Given the description of an element on the screen output the (x, y) to click on. 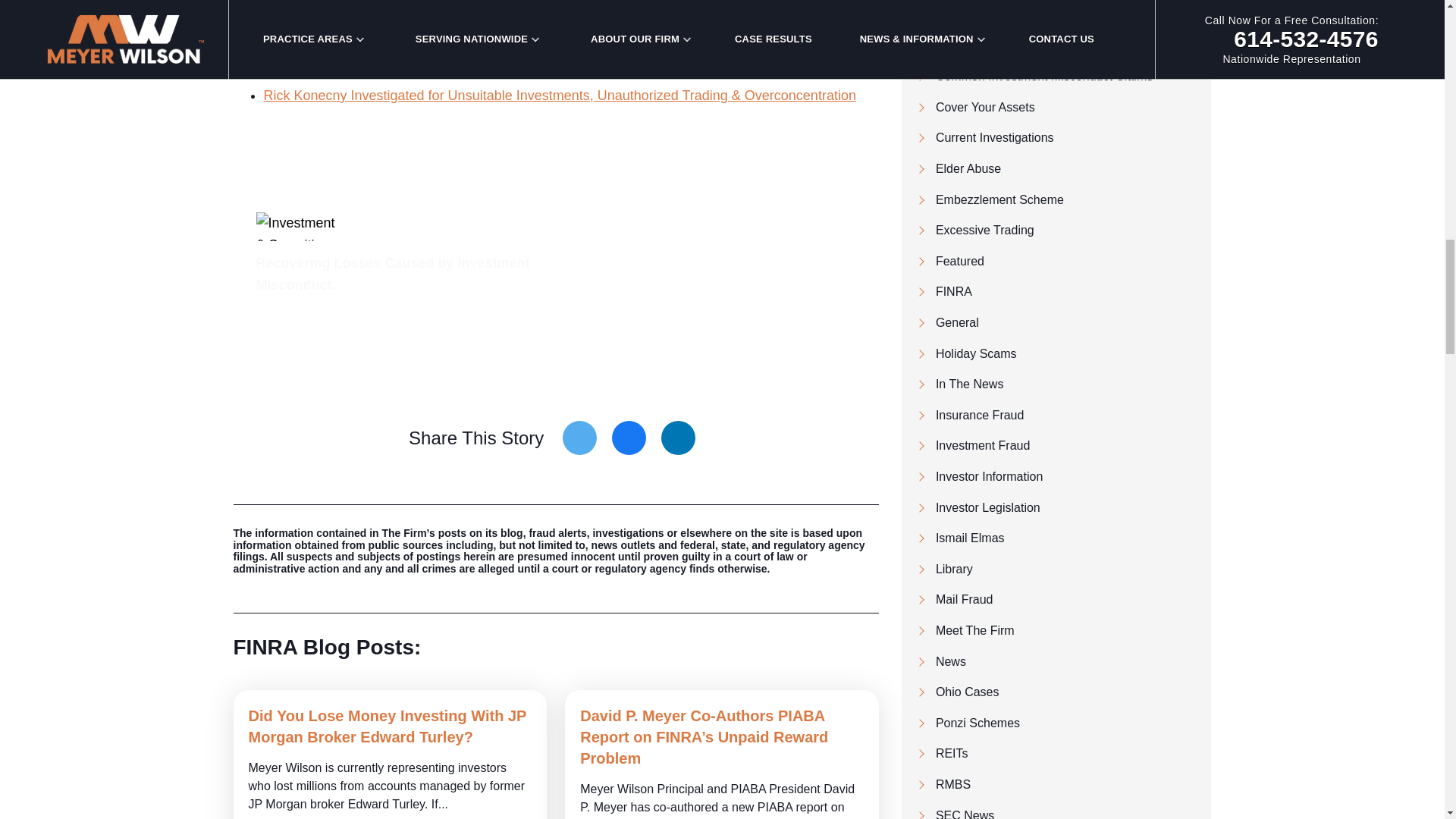
Facebook (628, 437)
Twitter (579, 437)
Linkedin (678, 437)
Start Your Free Case Evaluation (403, 346)
